Given the description of an element on the screen output the (x, y) to click on. 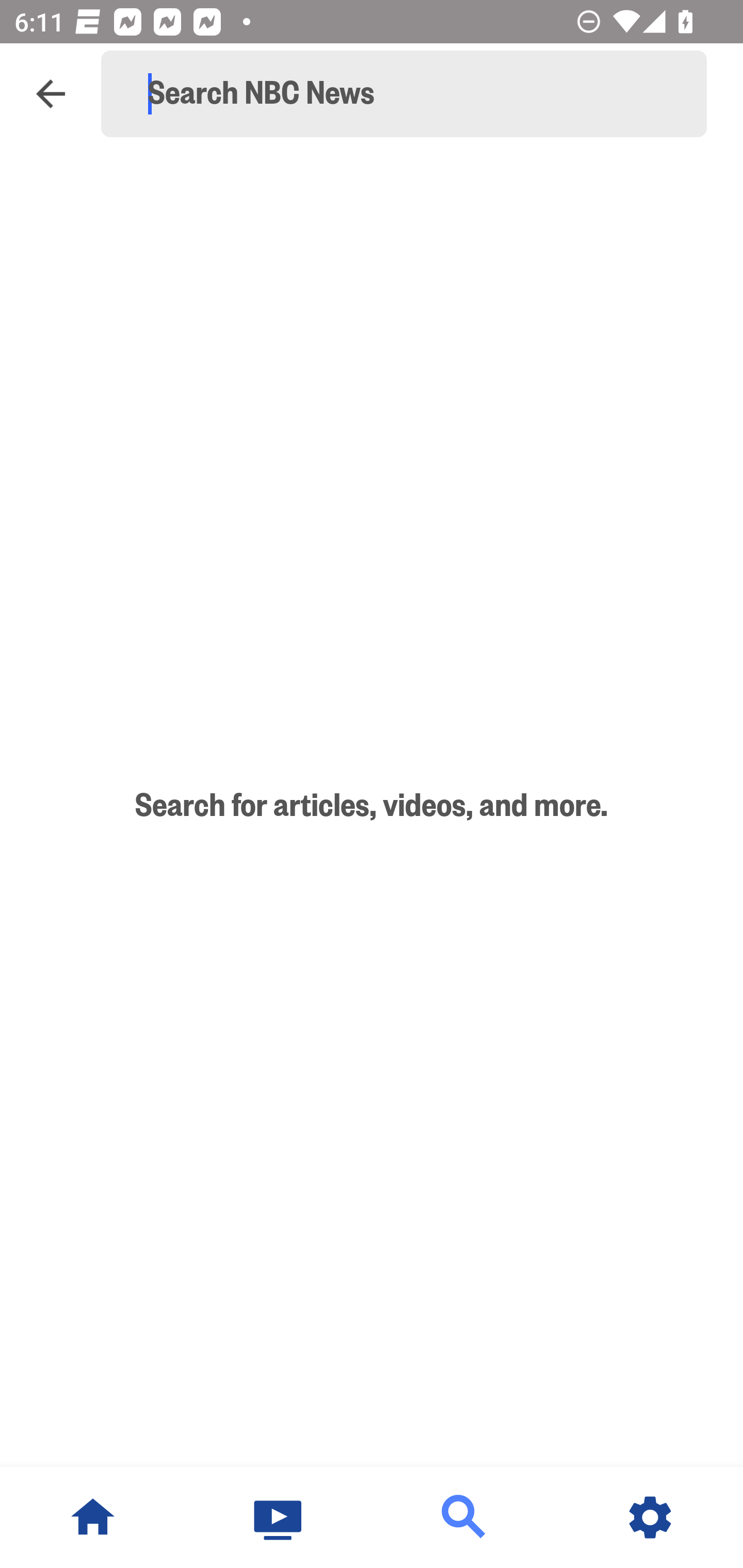
Navigate up (50, 93)
Search NBC News (412, 94)
NBC News Home (92, 1517)
Watch (278, 1517)
Settings (650, 1517)
